Given the description of an element on the screen output the (x, y) to click on. 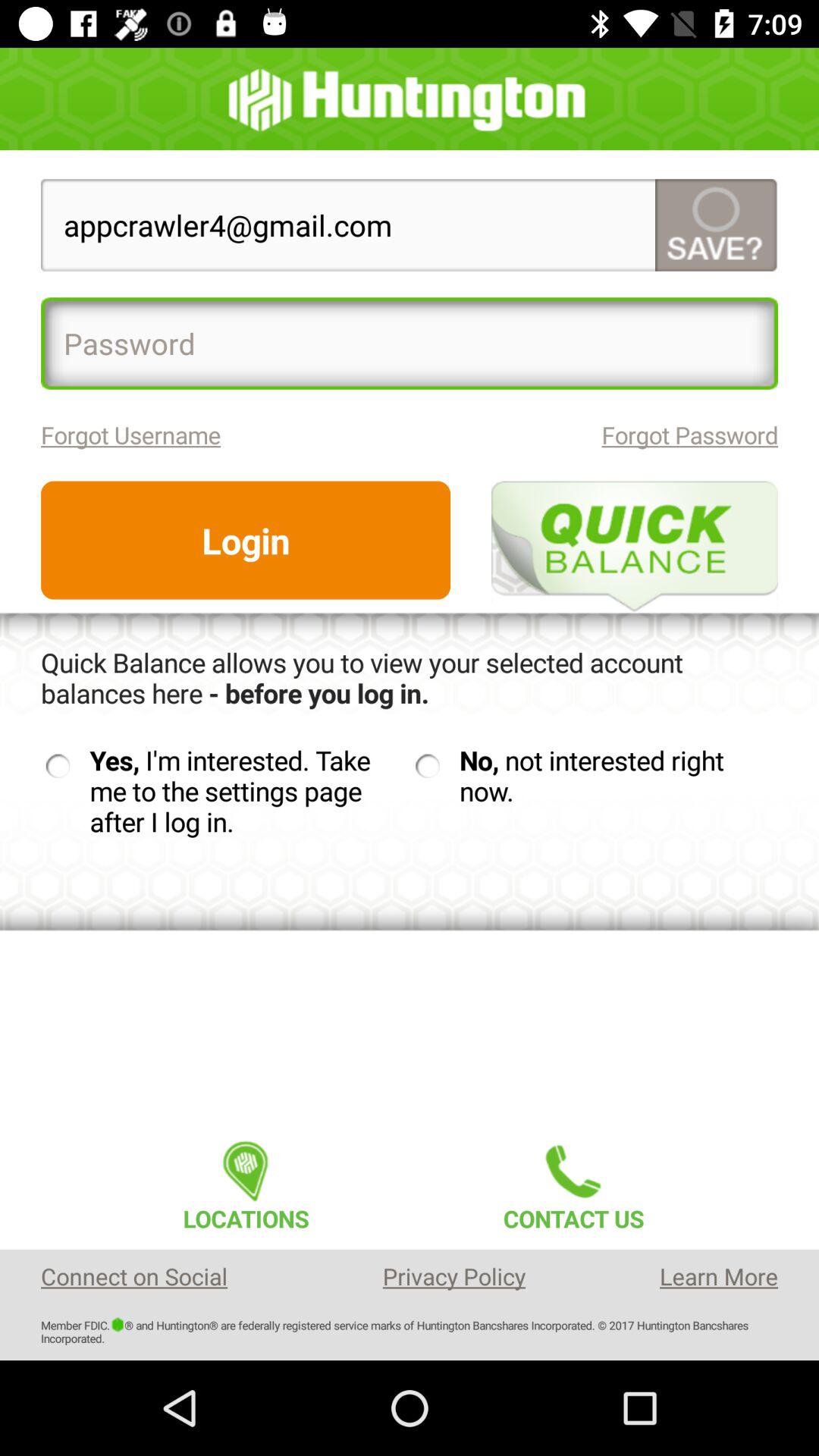
turn off icon below the no not interested icon (573, 1181)
